Given the description of an element on the screen output the (x, y) to click on. 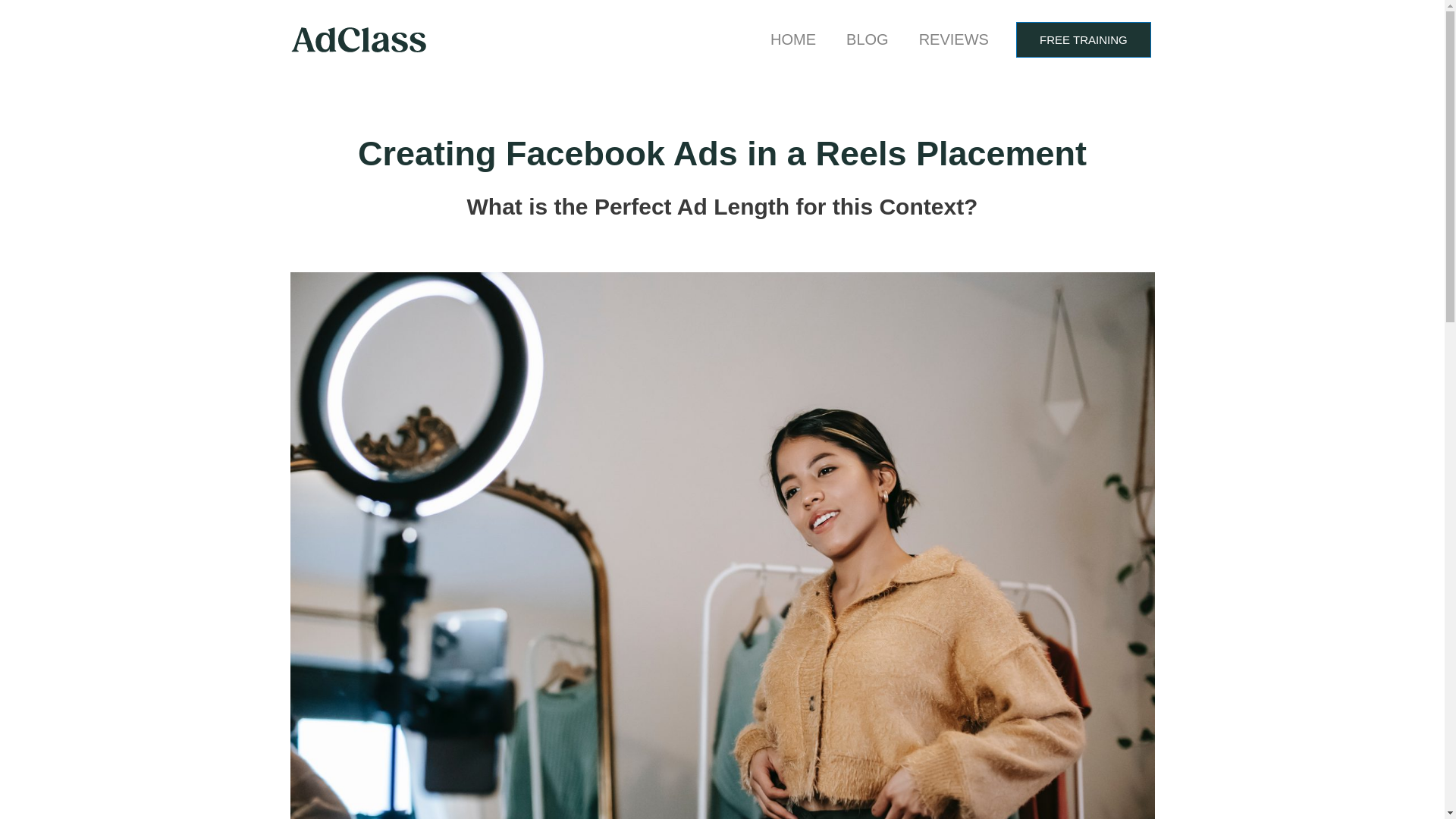
REVIEWS (954, 39)
FREE TRAINING (1083, 39)
HOME (793, 39)
BLOG (867, 39)
